Given the description of an element on the screen output the (x, y) to click on. 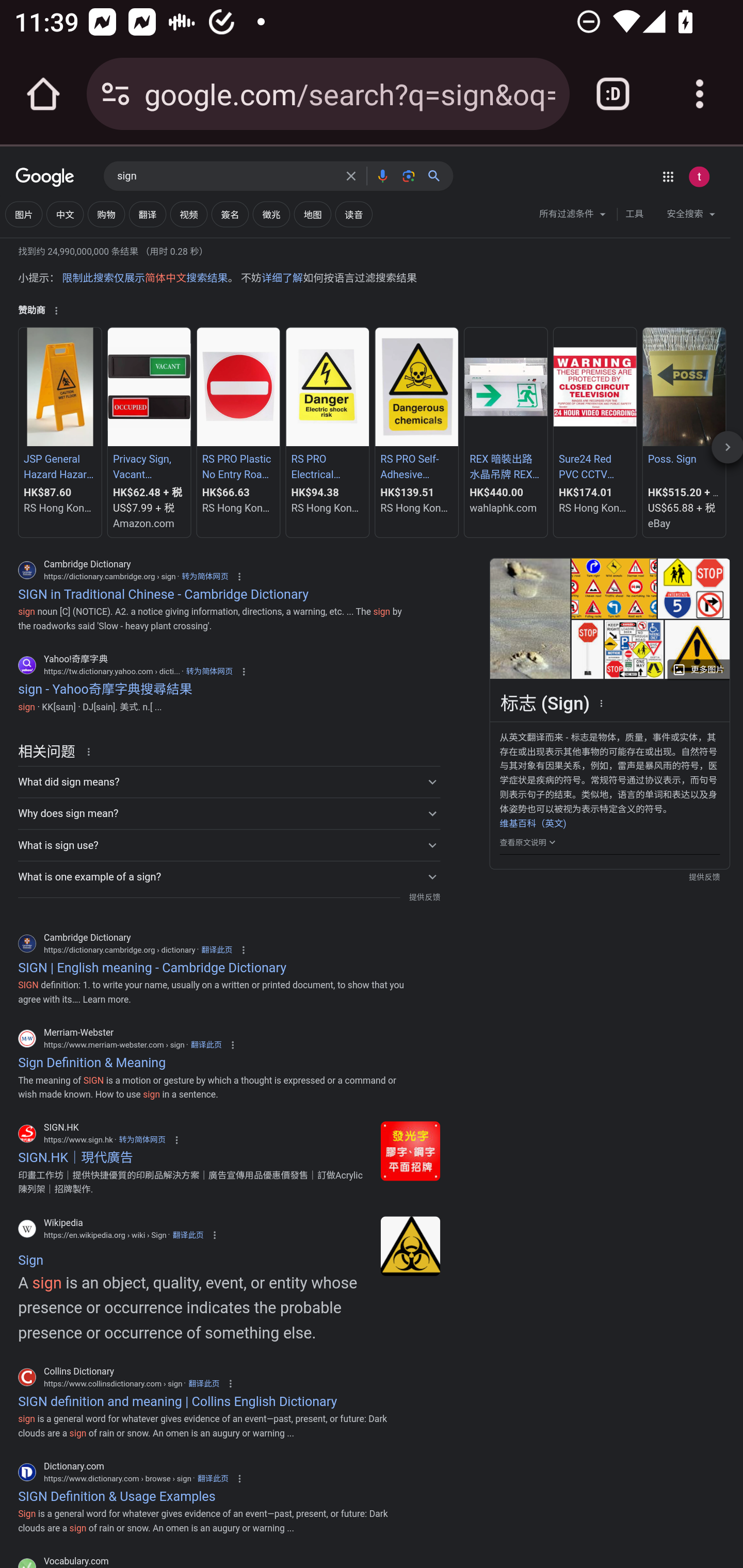
Open the home page (43, 93)
Connection is secure (115, 93)
Switch or close tabs (612, 93)
Customize and control Google Chrome (699, 93)
清除 (351, 175)
按语音搜索 (382, 175)
按图搜索 (408, 175)
搜索 (437, 175)
Google 应用 (667, 176)
Google 账号： test appium (testappium002@gmail.com) (698, 176)
Google (45, 178)
sign (225, 176)
图片 (23, 213)
添加“中文” 中文 (64, 213)
购物 (105, 213)
添加“翻译” 翻译 (147, 213)
视频 (188, 213)
添加“簽名” 簽名 (229, 213)
添加“徵兆” 徵兆 (271, 213)
地图 (312, 213)
添加“读音” 读音 (353, 213)
所有过滤条件 (572, 216)
工具 (633, 213)
安全搜索 (690, 216)
限制此搜索仅展示简体中文搜索结果 限制此搜索仅展示 简体中文 搜索结果 (144, 278)
详细了解 (281, 278)
为什么会显示该广告？ (55, 311)
Poss. Sign在eBay的售价仅为 HK$515.20 + 税 (683, 432)
Poss. Sign Poss. Sign Poss. Sign Poss. Sign (683, 468)
转为简体网页 (204, 576)
转为简体网页 (208, 670)
关于这条结果的详细信息 (91, 750)
What did sign means? (228, 781)
Why does sign mean? (228, 813)
What is sign use? (228, 844)
What is one example of a sign? (228, 876)
提供反馈 (423, 897)
翻译此页 (216, 949)
翻译此页 (206, 1044)
www.sign (409, 1150)
转为简体网页 (141, 1139)
Sign (409, 1246)
翻译此页 (187, 1234)
翻译此页 (203, 1382)
翻译此页 (212, 1478)
